Given the description of an element on the screen output the (x, y) to click on. 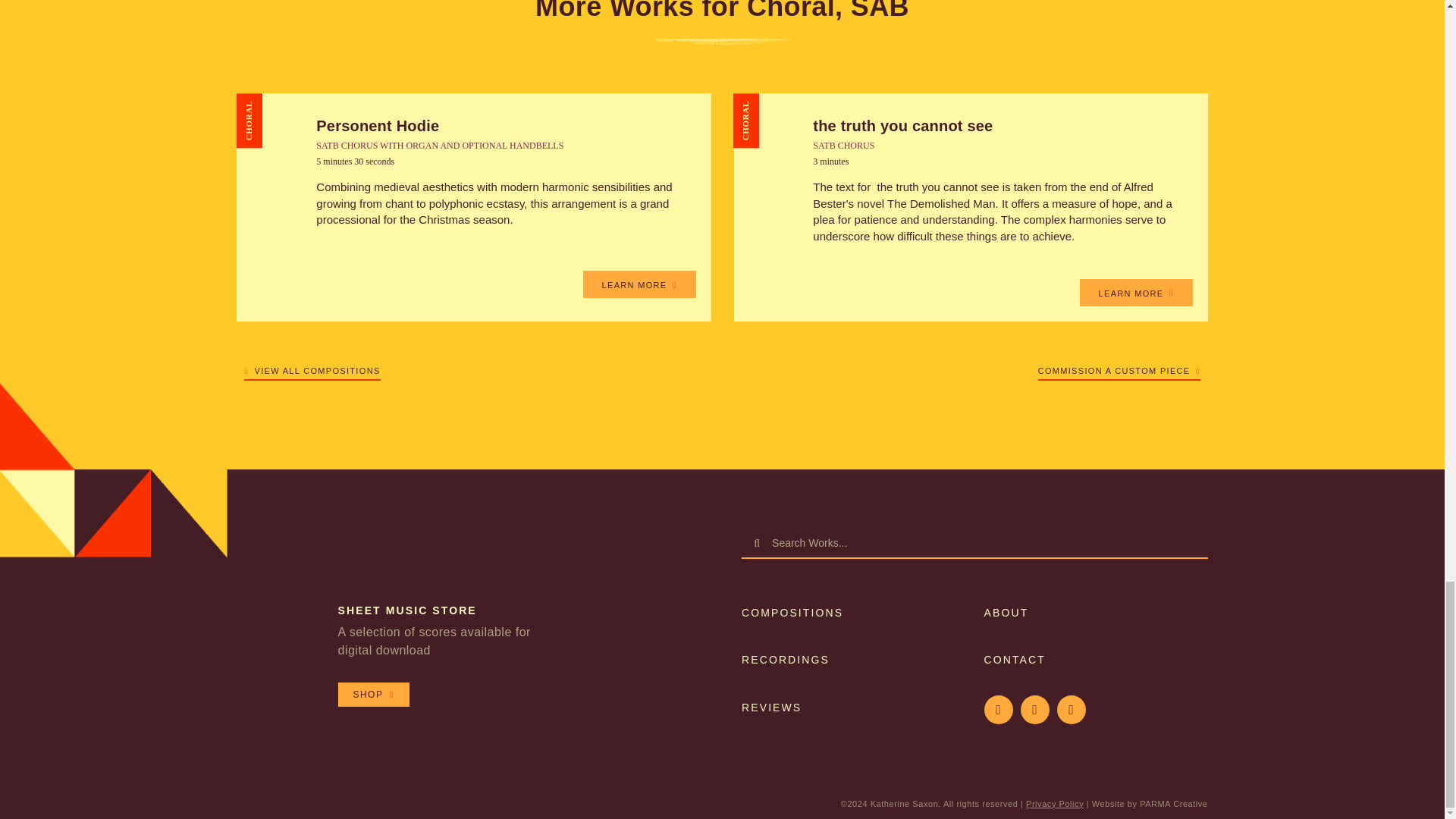
REVIEWS (771, 707)
COMPOSITIONS (792, 612)
VIEW ALL COMPOSITIONS (312, 367)
footer-triangles (113, 468)
LEARN MORE (639, 284)
divider-sm-light (721, 41)
SHOP (373, 694)
RECORDINGS (785, 659)
COMMISSION A CUSTOM PIECE (1118, 367)
LEARN MORE (1136, 292)
